Given the description of an element on the screen output the (x, y) to click on. 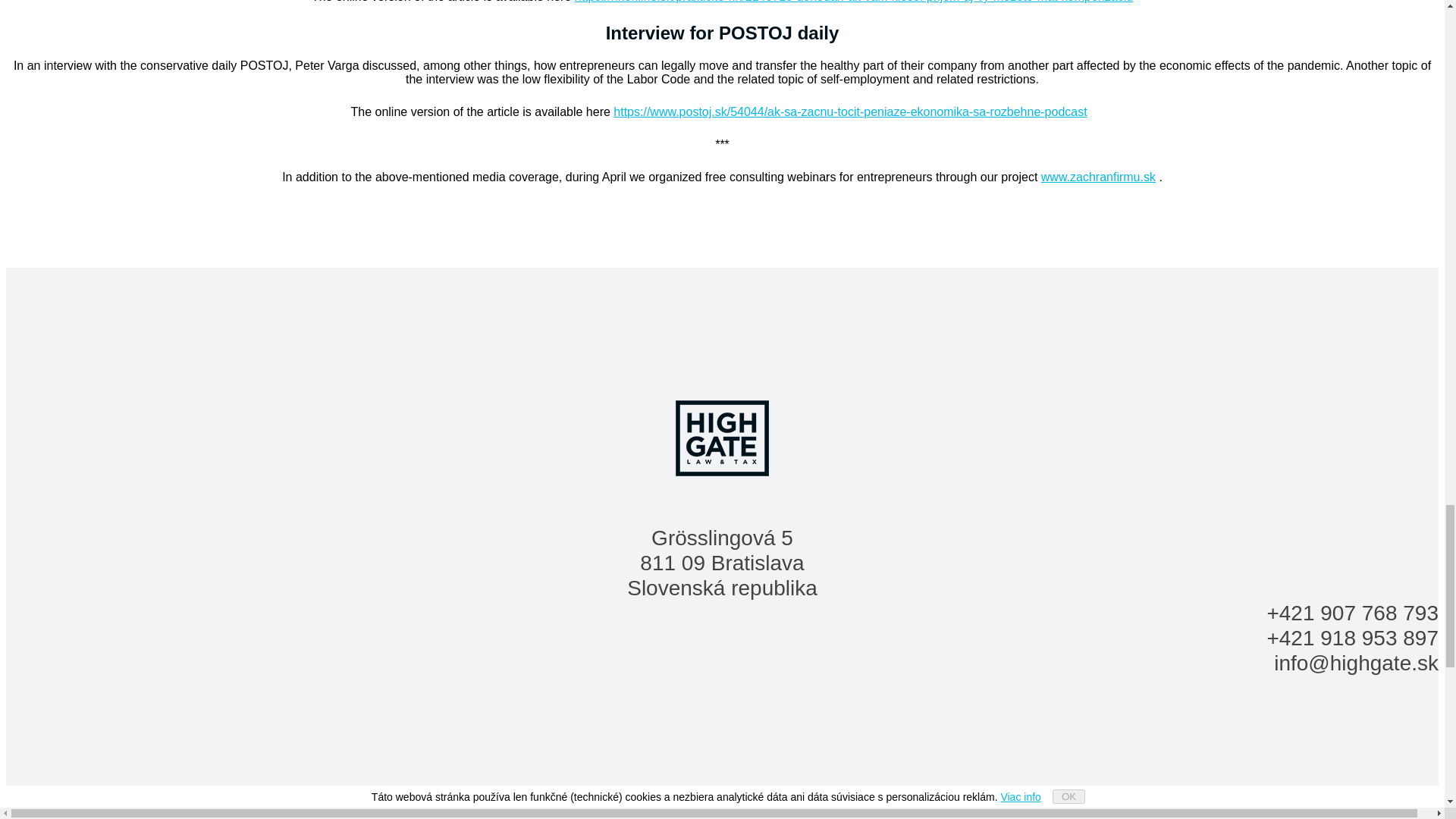
www.zachranfirmu.sk (1098, 176)
